Given the description of an element on the screen output the (x, y) to click on. 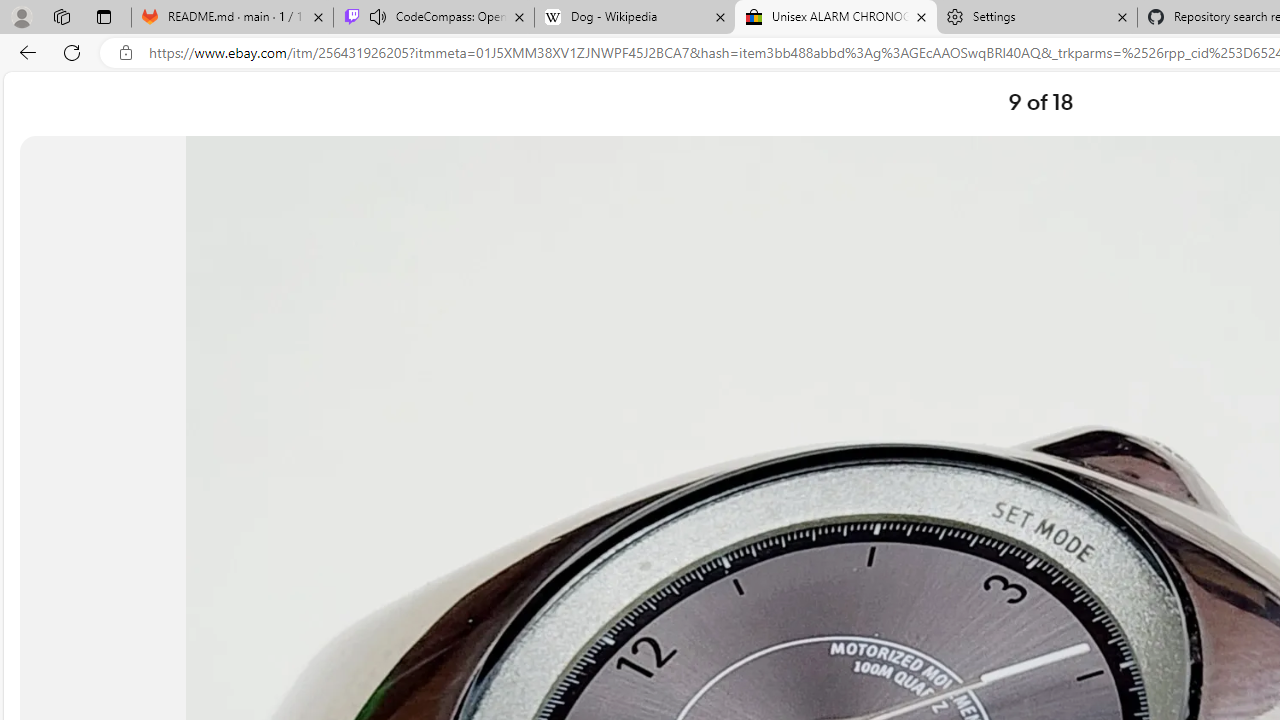
Mute tab (377, 16)
Dog - Wikipedia (634, 17)
